Given the description of an element on the screen output the (x, y) to click on. 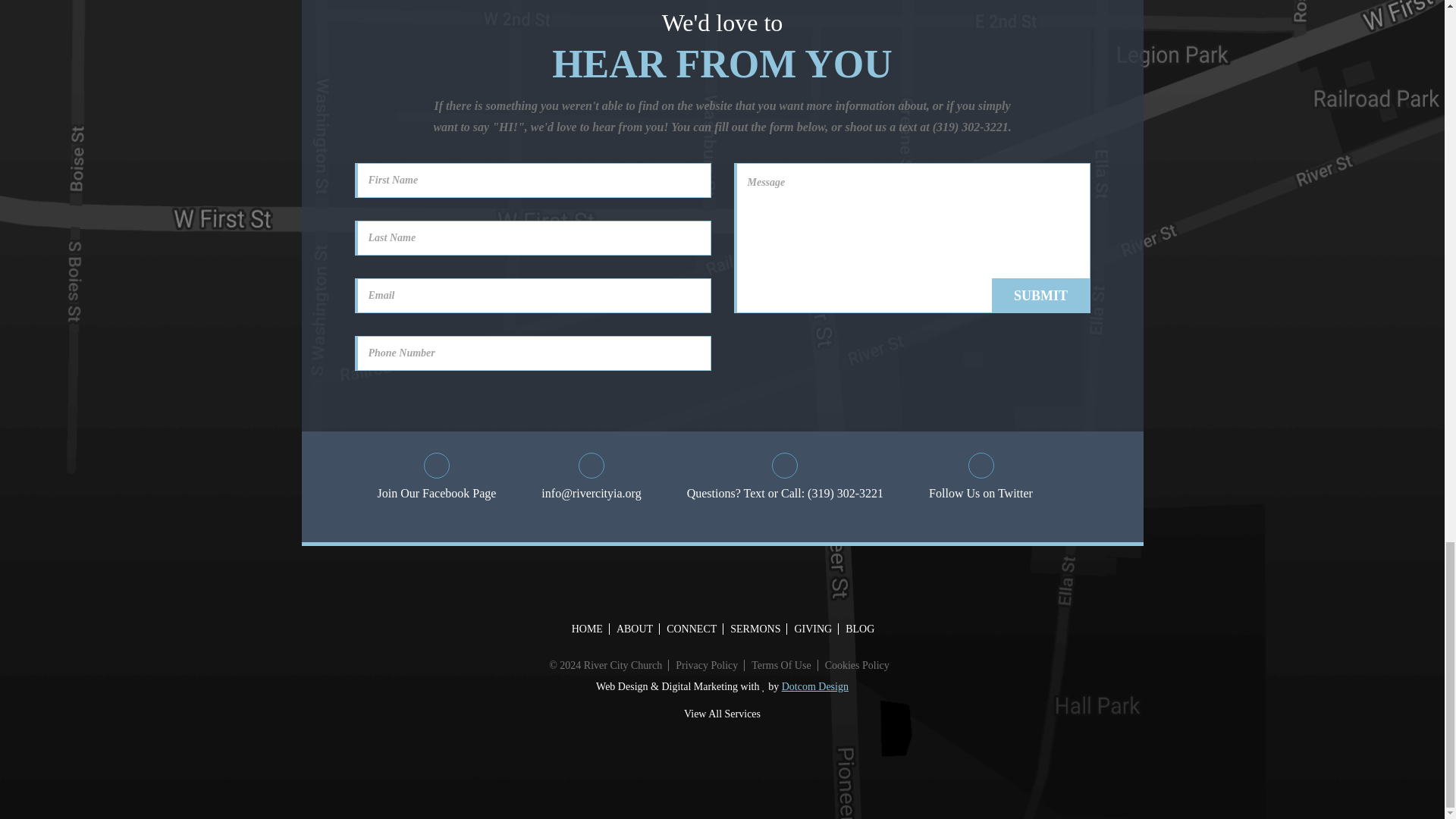
Join Our Facebook Page (436, 477)
Privacy Policy (706, 665)
Submit (1040, 295)
Join Our Facebook Group (436, 477)
Submit (1040, 295)
Follow Us on Twitter (980, 477)
